Given the description of an element on the screen output the (x, y) to click on. 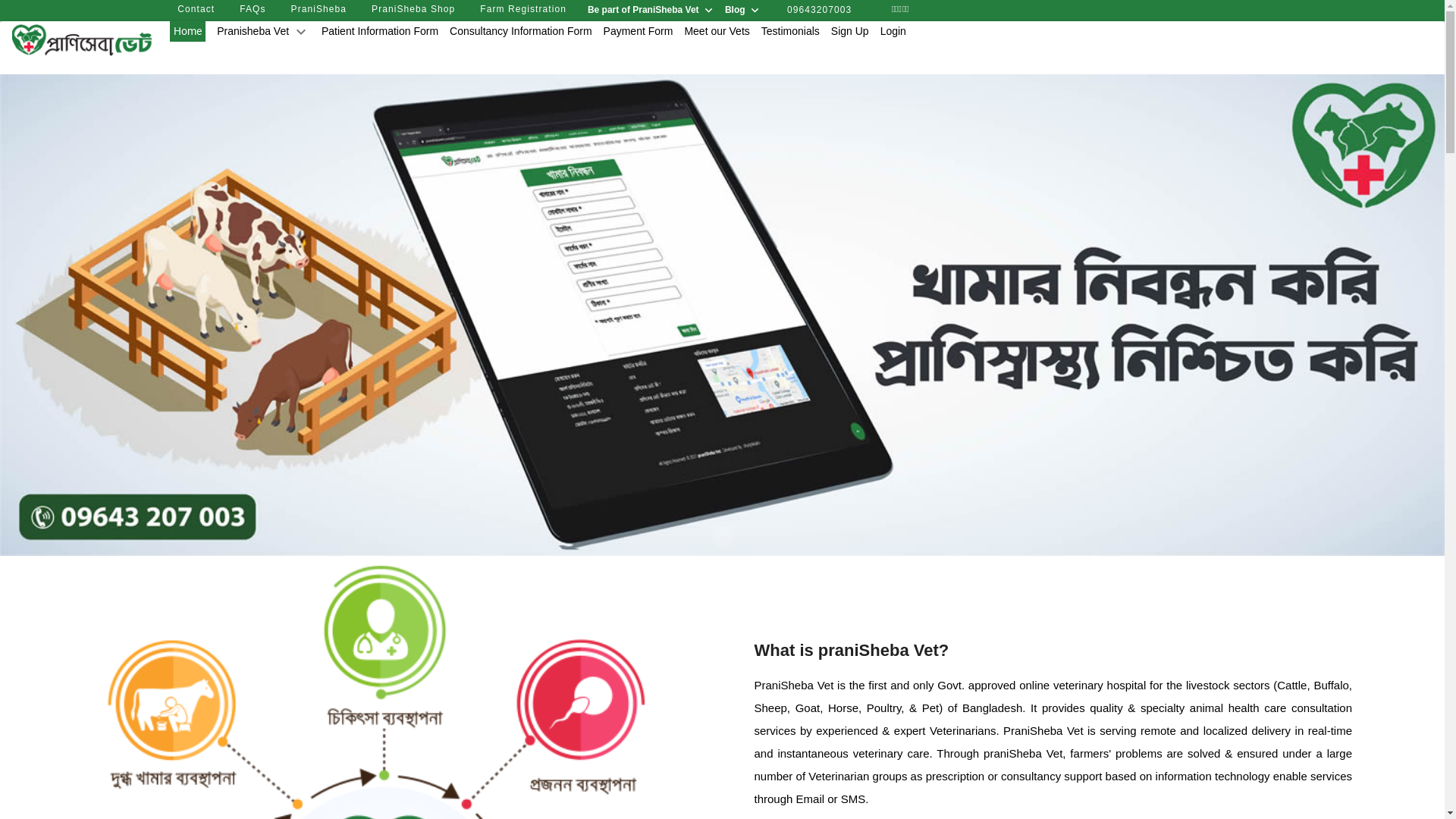
Login Element type: text (893, 31)
Testimonials Element type: text (790, 31)
Consultancy Information Form Element type: text (520, 31)
Sign Up Element type: text (850, 31)
0 Element type: text (721, 536)
Patient Information Form Element type: text (379, 31)
Home Element type: text (187, 31)
Payment Form Element type: text (638, 31)
................................ Element type: text (88, 23)
Meet our Vets Element type: text (716, 31)
